Given the description of an element on the screen output the (x, y) to click on. 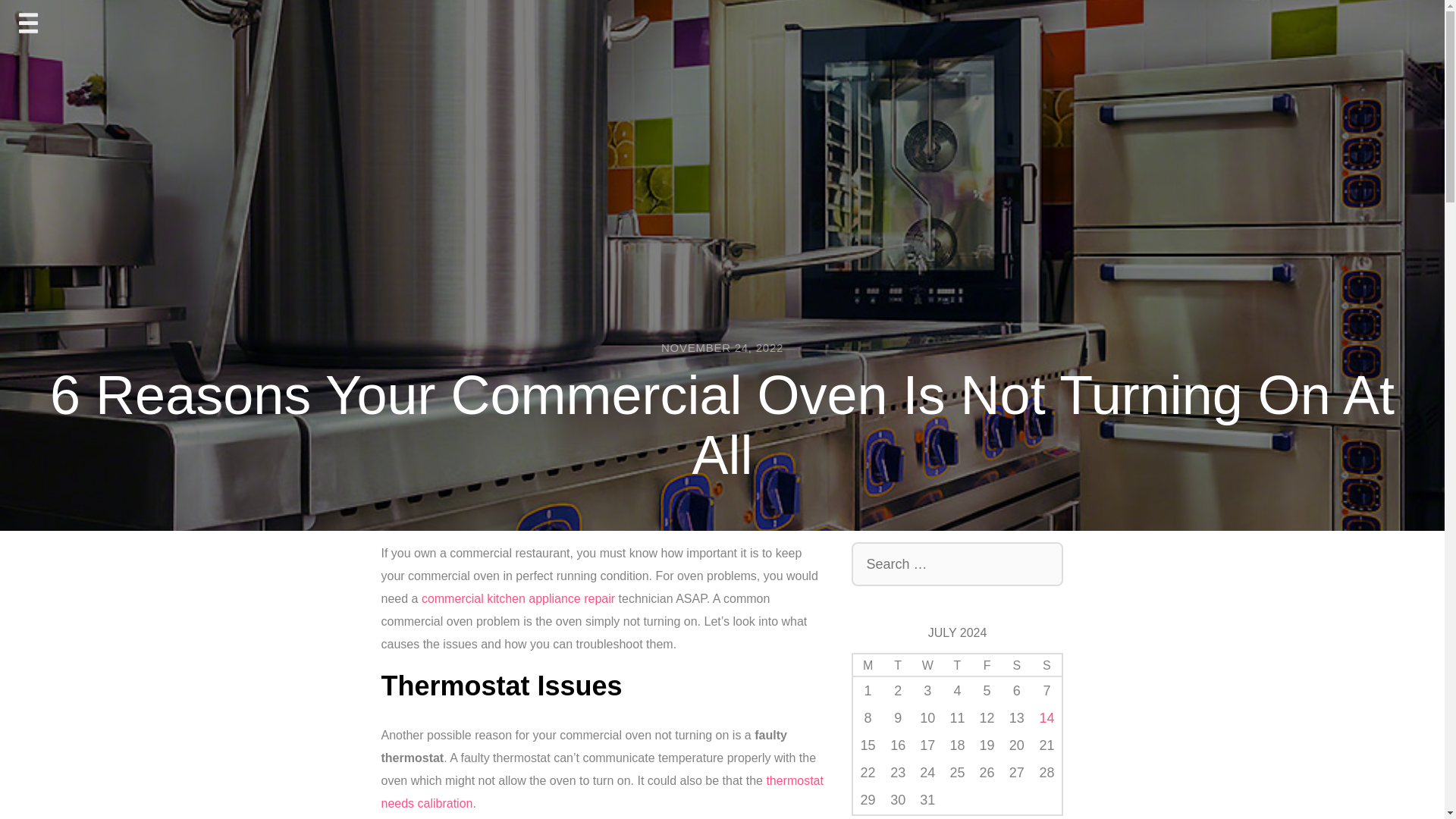
Sunday (1046, 664)
thermostat needs calibration (601, 791)
Wednesday (927, 664)
commercial kitchen appliance repair (518, 598)
Search (51, 23)
Thursday (957, 664)
Friday (986, 664)
Saturday (1015, 664)
Monday (867, 664)
Tuesday (897, 664)
